Given the description of an element on the screen output the (x, y) to click on. 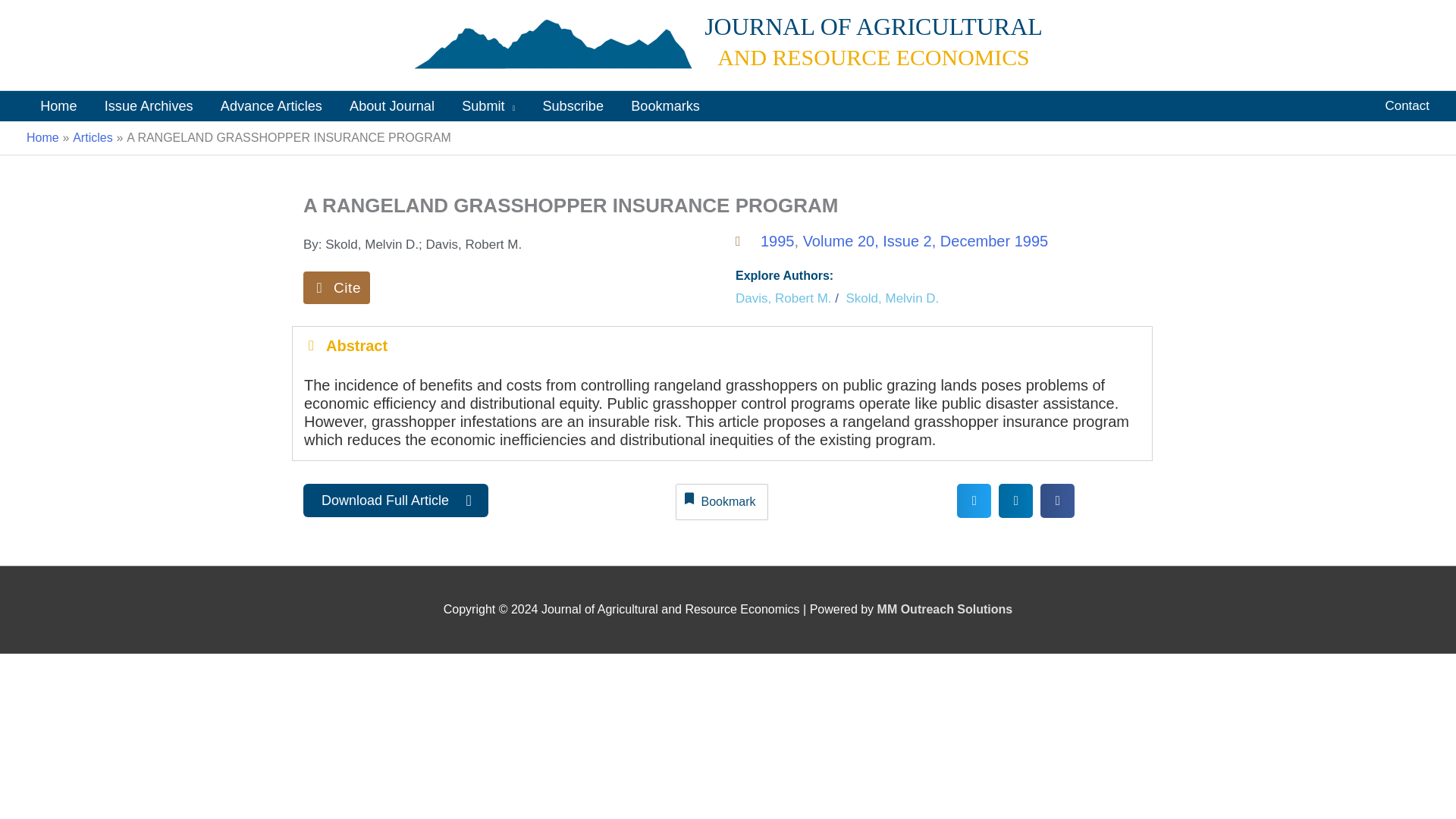
MM Outreach Solutions (945, 608)
About Journal (392, 105)
Davis, Robert M. (783, 298)
Issue Archives (148, 105)
JOURNAL OF AGRICULTURAL (873, 26)
1995 (777, 240)
Download Full Article (394, 500)
Articles (92, 137)
Bookmark (721, 502)
Subscribe (572, 105)
